Given the description of an element on the screen output the (x, y) to click on. 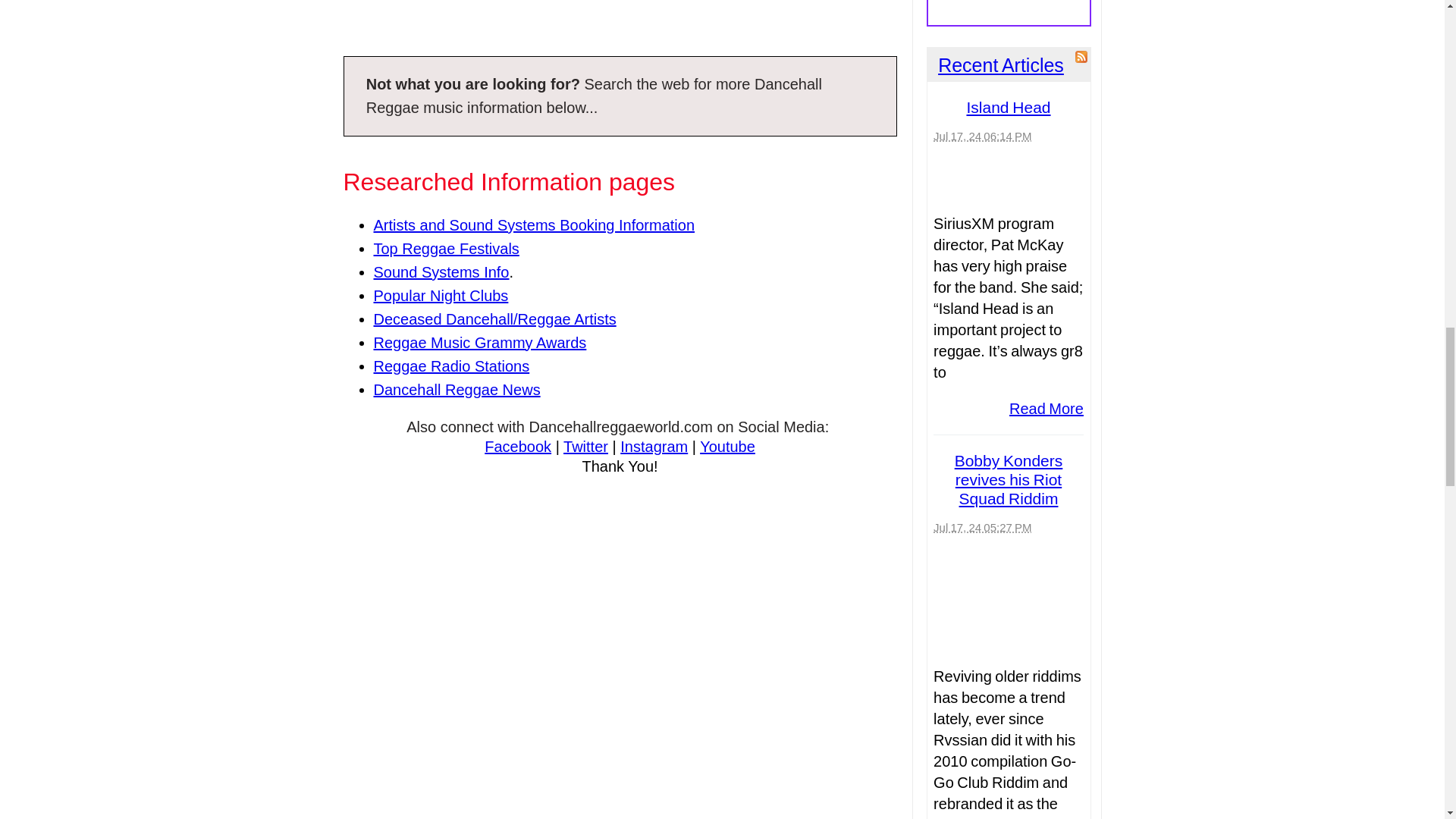
Artists and Sound Systems Booking Information (533, 225)
Popular Night Clubs (440, 295)
2024-07-17T18:14:25-0400 (981, 135)
Instagram (653, 446)
Twitter (585, 446)
Facebook (517, 446)
Dancehall Reggae News (456, 389)
Reggae Music Grammy Awards (479, 342)
Sound Systems Info (440, 271)
Reggae Radio Stations (450, 365)
Top Reggae Festivals (445, 248)
Youtube (727, 446)
2024-07-17T17:27:33-0400 (981, 526)
